Given the description of an element on the screen output the (x, y) to click on. 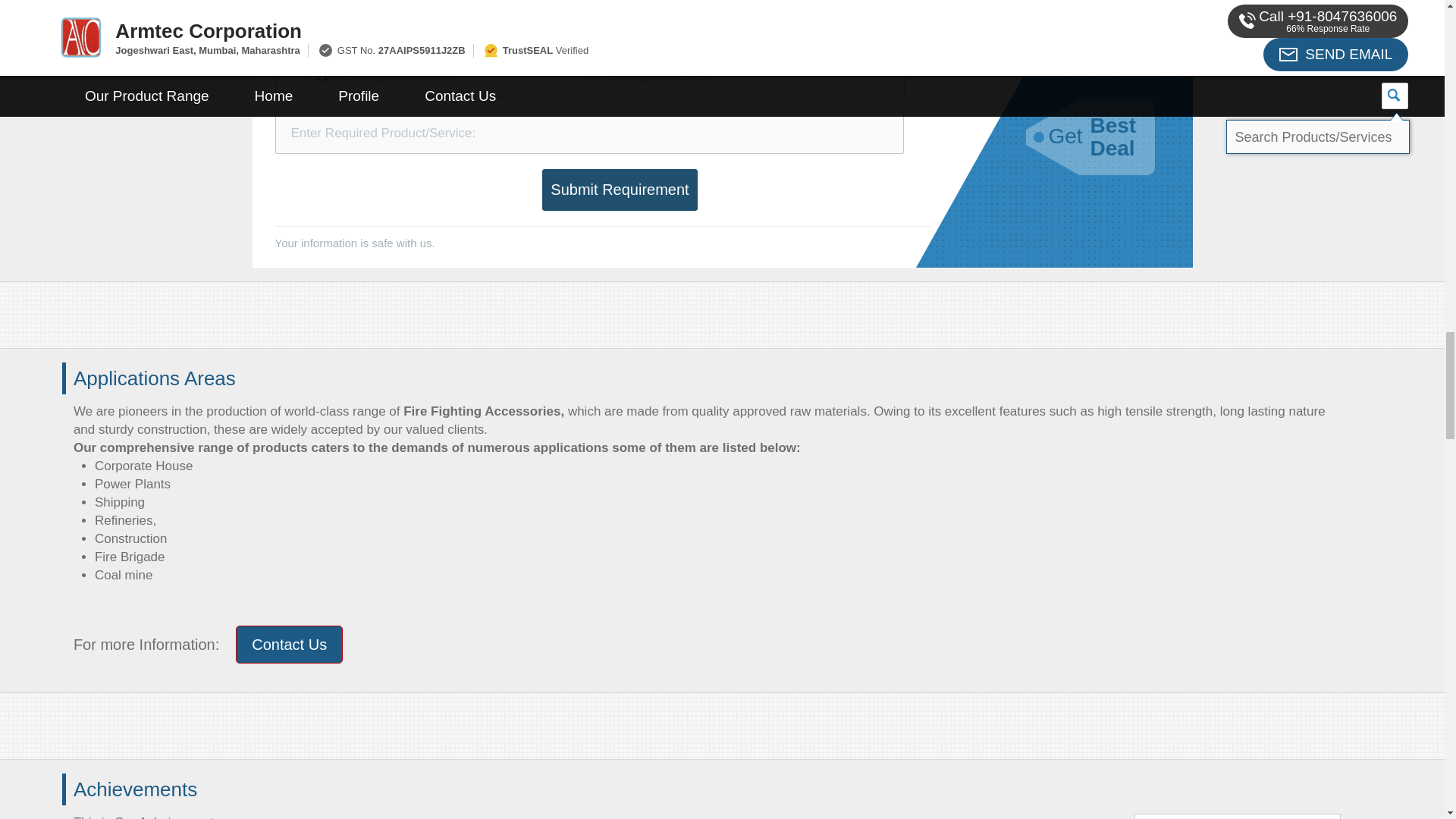
Submit Requirement (619, 189)
Enter your number: (430, 76)
Enter your name: (748, 76)
